Given the description of an element on the screen output the (x, y) to click on. 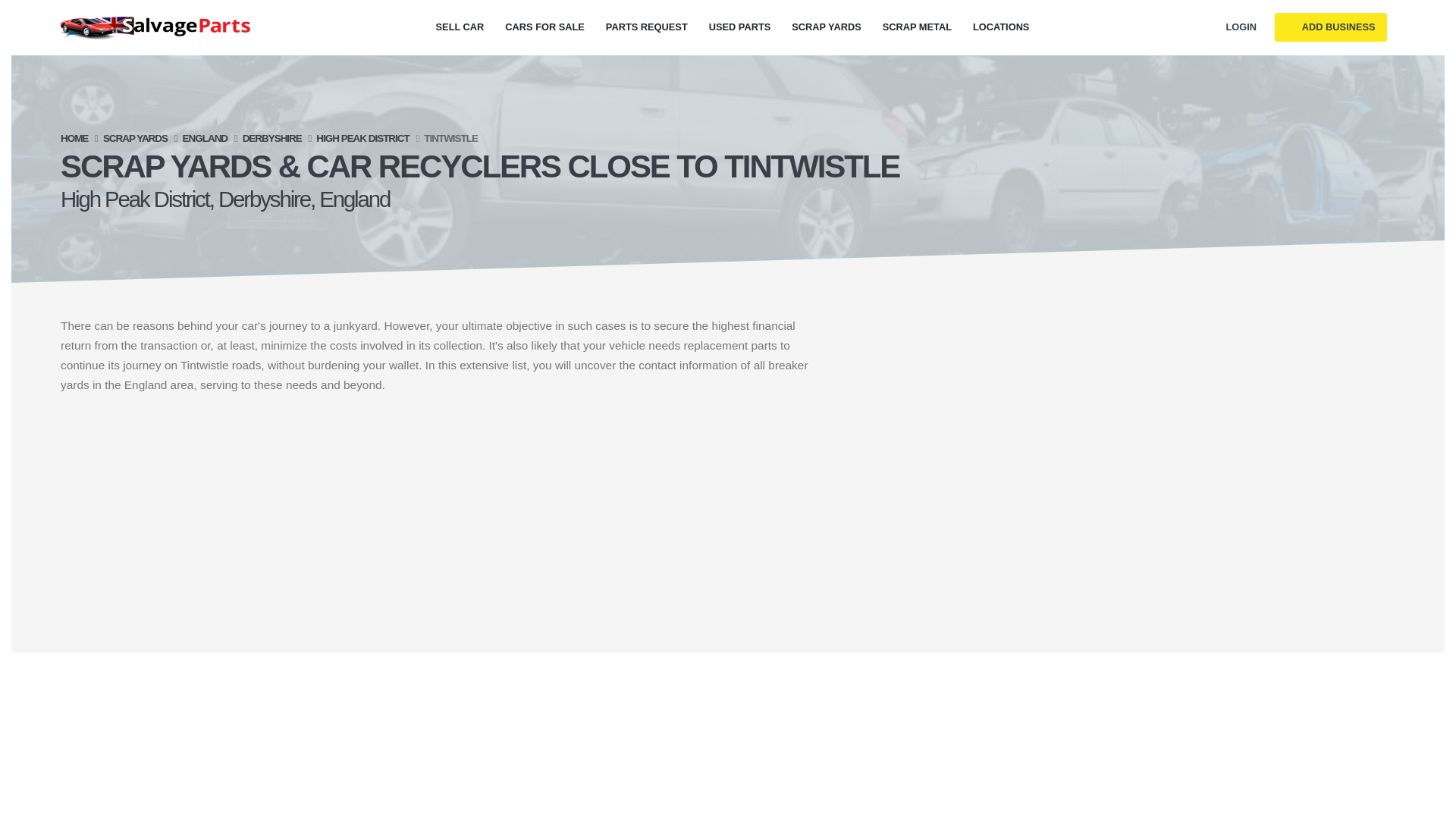
DERBYSHIRE (272, 138)
SCRAP YARDS (826, 27)
SCRAP YARDS (135, 138)
PARTS REQUEST (646, 27)
SCRAP METAL (917, 27)
ENGLAND (205, 138)
SELL CAR (459, 27)
LOCATIONS (1000, 27)
USED PARTS (740, 27)
CARS FOR SALE (545, 27)
